Given the description of an element on the screen output the (x, y) to click on. 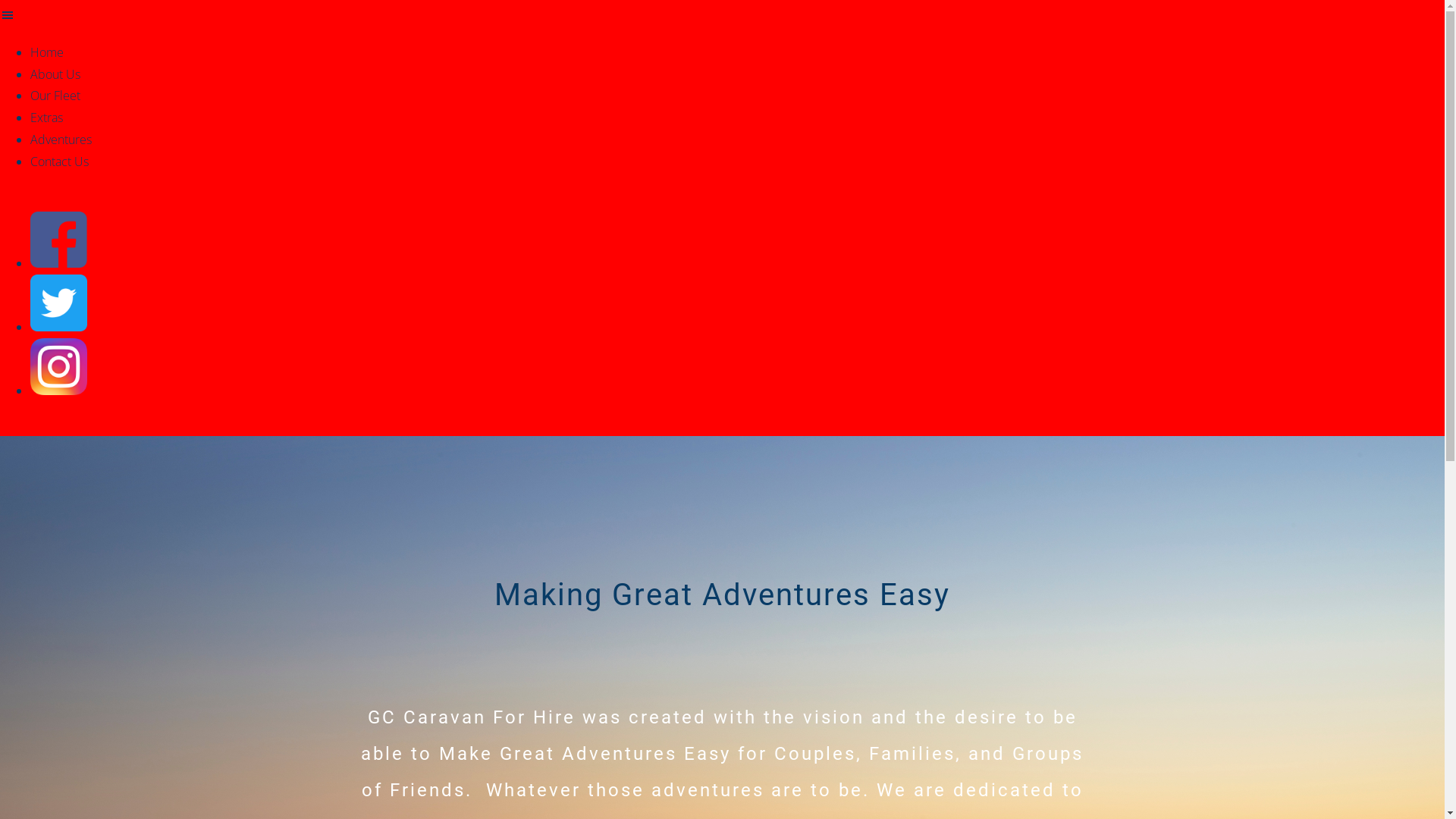
Follow Us on Instagram Element type: hover (58, 390)
Home Element type: text (46, 51)
Adventures Element type: text (60, 139)
Extras Element type: text (46, 117)
Follow Us on Facebook Element type: hover (58, 262)
Contact Us Element type: text (59, 161)
Our Fleet Element type: text (55, 95)
Follow Us on Twitter Element type: hover (58, 326)
About Us Element type: text (55, 73)
